Given the description of an element on the screen output the (x, y) to click on. 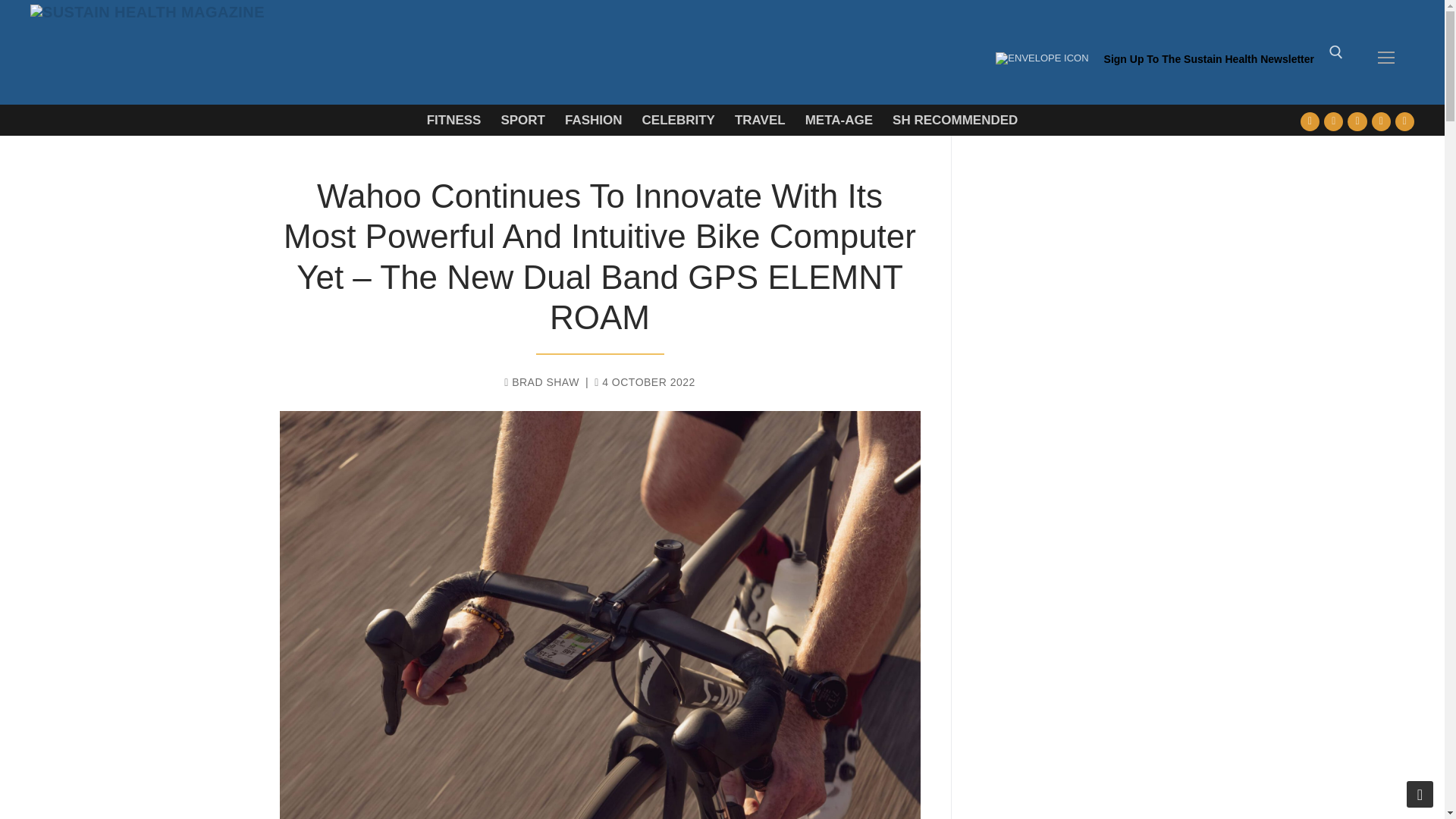
SH RECOMMENDED (954, 119)
FASHION (592, 119)
BRAD SHAW (541, 381)
Twitter (1333, 121)
CELEBRITY (678, 119)
SPORT (522, 119)
TRAVEL (759, 119)
META-AGE (838, 119)
Facebook (1310, 121)
FITNESS (454, 119)
Instagram (1380, 121)
Youtube (1357, 121)
Pinterest (1404, 121)
Sign Up To The Sustain Health Newsletter (1208, 66)
